Given the description of an element on the screen output the (x, y) to click on. 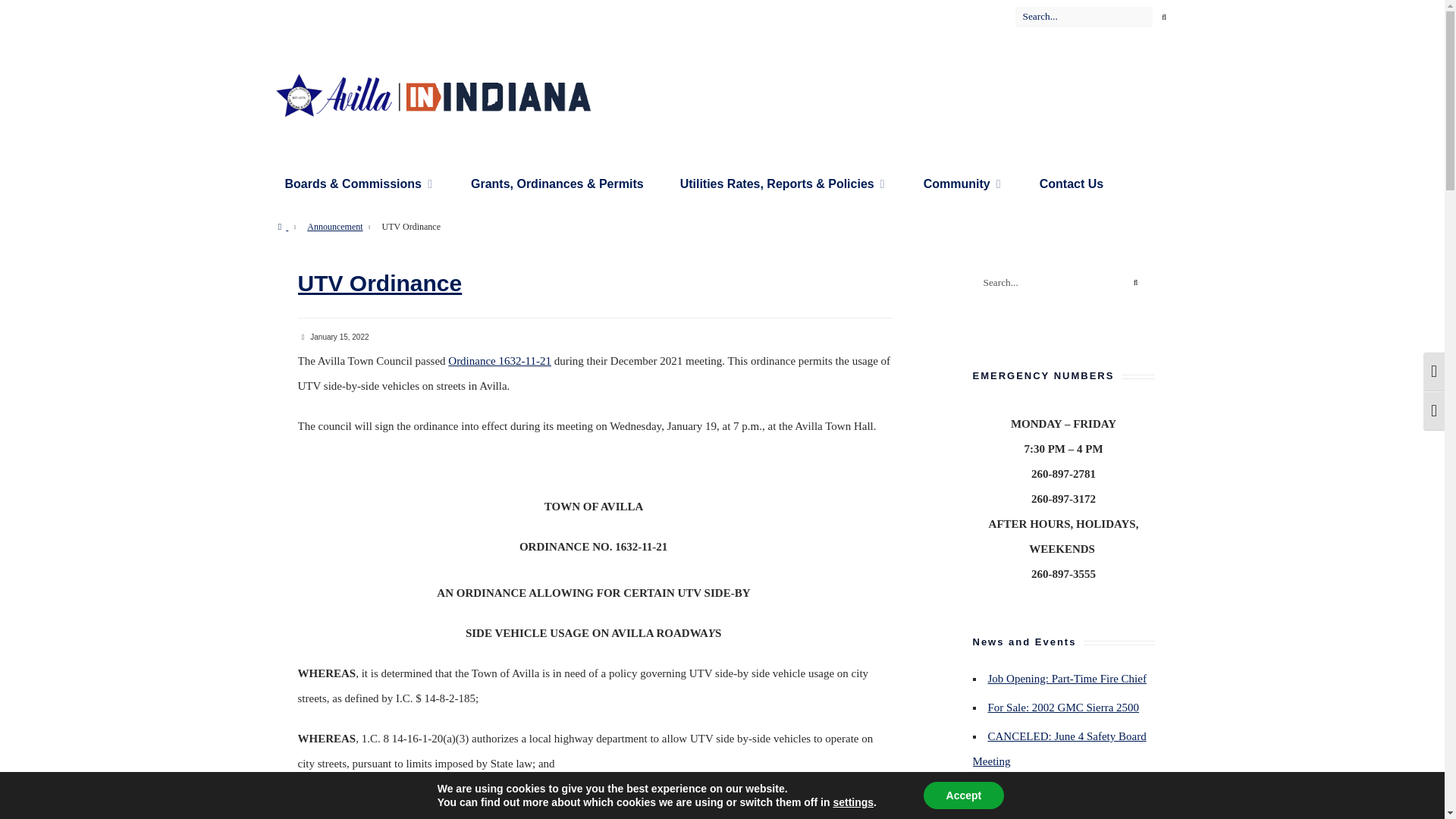
Announcement (334, 226)
Search... (1063, 282)
Community (963, 184)
Contact Us (1071, 184)
UTV Ordinance (379, 283)
Ordinance 1632-11-21 (499, 360)
Search... (1094, 15)
